Given the description of an element on the screen output the (x, y) to click on. 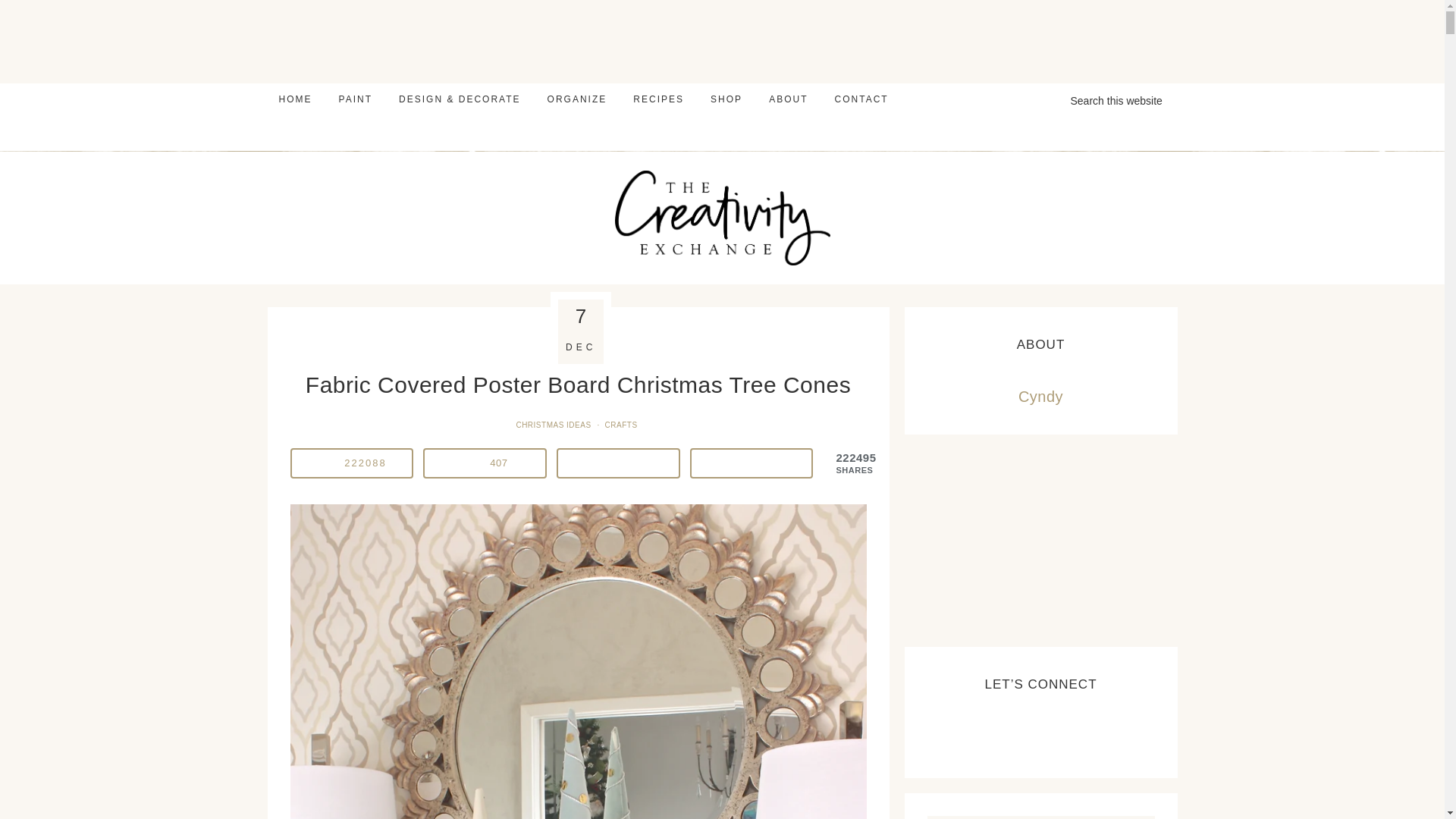
Share on X (617, 462)
ORGANIZE (576, 99)
Send over email (751, 462)
SHOP (726, 99)
Share on Facebook (484, 462)
HOME (294, 99)
Save to Pinterest (350, 462)
CONTACT (861, 99)
PAINT (355, 99)
RECIPES (658, 99)
ABOUT (787, 99)
